Given the description of an element on the screen output the (x, y) to click on. 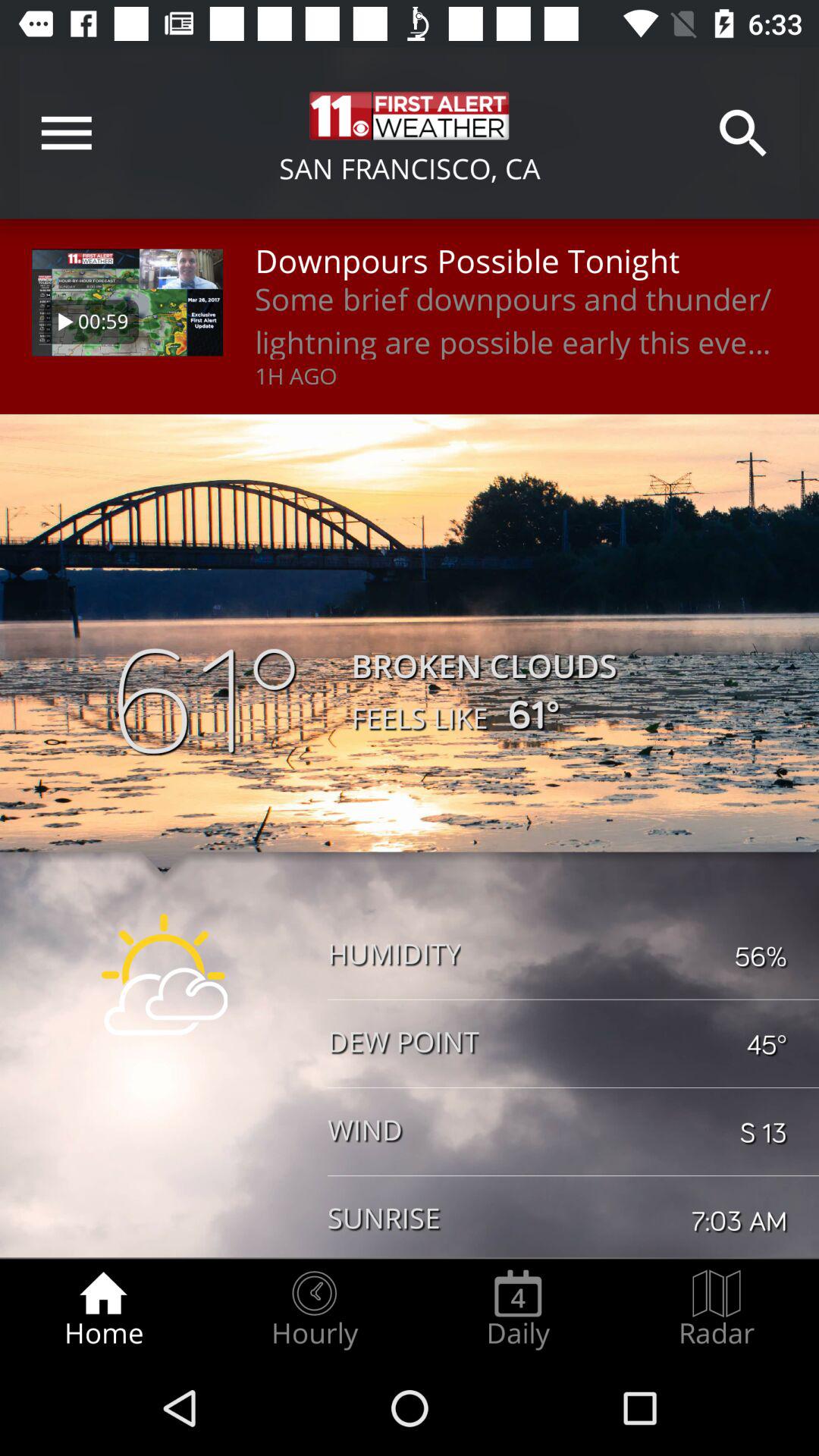
scroll until the hourly radio button (314, 1309)
